Given the description of an element on the screen output the (x, y) to click on. 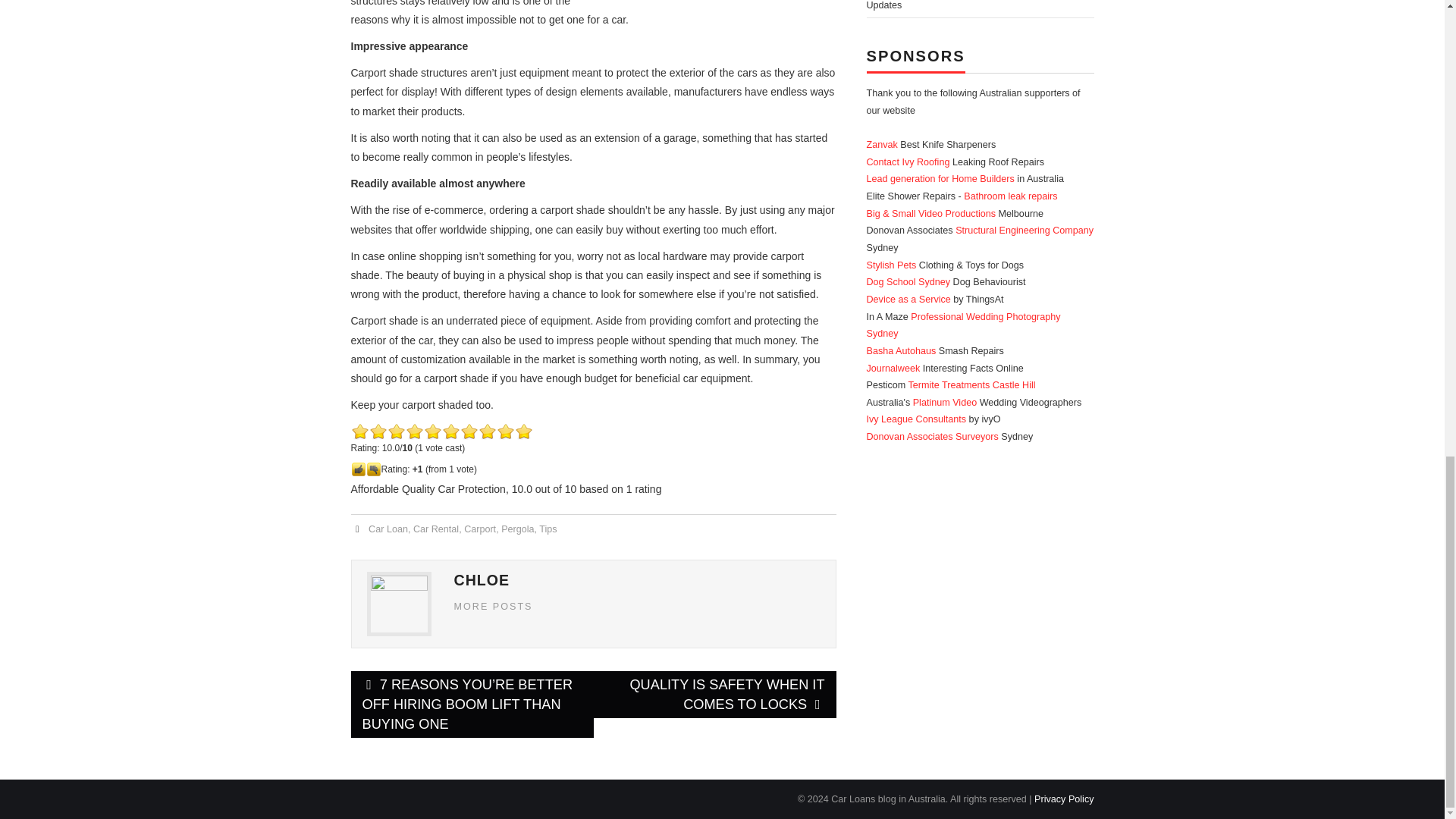
Car Loan (387, 529)
MORE POSTS (492, 606)
QUALITY IS SAFETY WHEN IT COMES TO LOCKS (713, 694)
Pergola (517, 529)
Tips (547, 529)
Car Rental (435, 529)
Carport (480, 529)
